Given the description of an element on the screen output the (x, y) to click on. 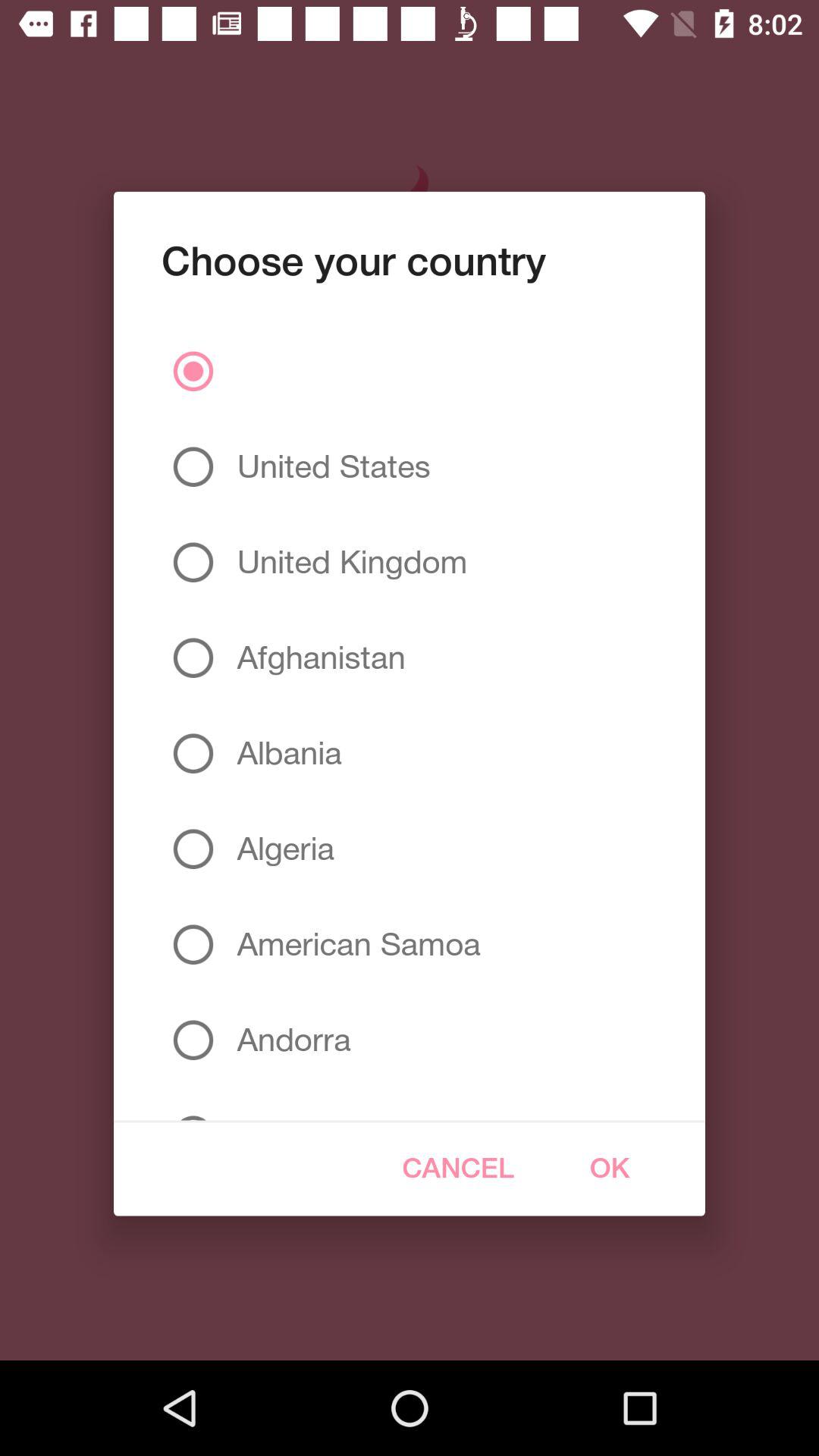
flip until the afghanistan item (315, 657)
